Given the description of an element on the screen output the (x, y) to click on. 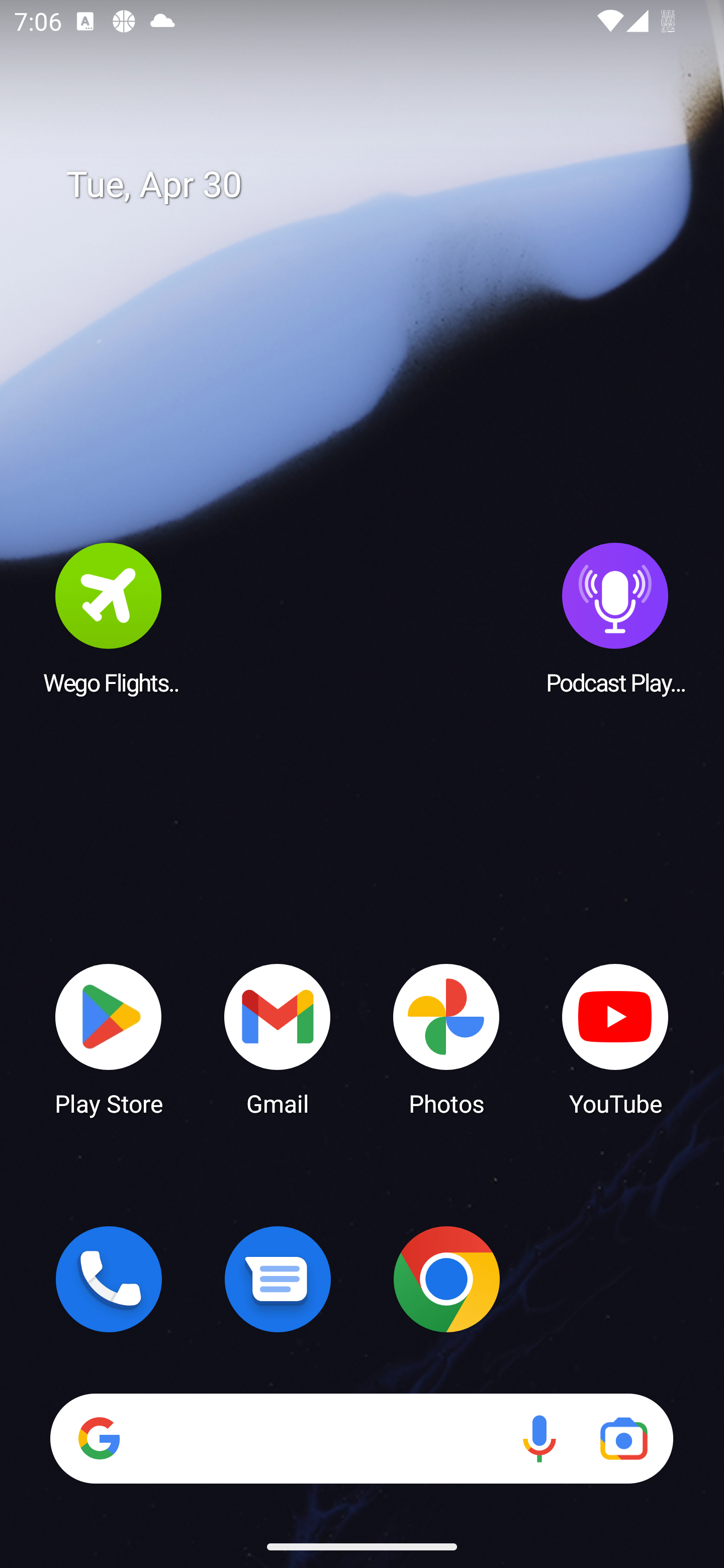
Tue, Apr 30 (375, 184)
Wego Flights & Hotels (108, 617)
Podcast Player (615, 617)
Play Store (108, 1038)
Gmail (277, 1038)
Photos (445, 1038)
YouTube (615, 1038)
Phone (108, 1279)
Messages (277, 1279)
Chrome (446, 1279)
Voice search (539, 1438)
Google Lens (623, 1438)
